Given the description of an element on the screen output the (x, y) to click on. 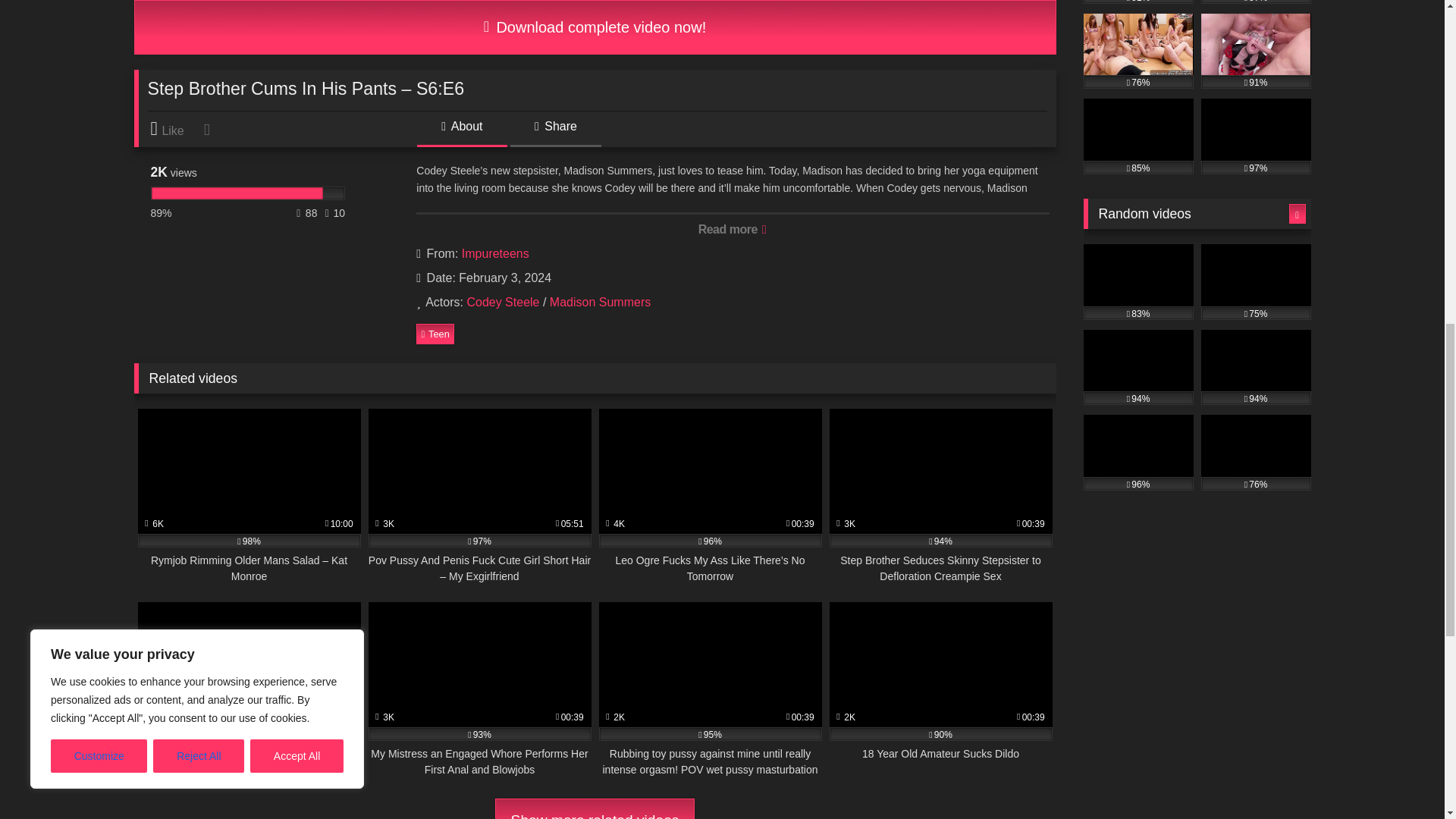
About (461, 132)
Download complete video now! (594, 27)
Impureteens (495, 253)
Read more (732, 228)
Share (556, 132)
Madison Summers (600, 301)
I like this (174, 129)
Codey Steele (501, 301)
Like (174, 129)
Posts by Impureteens (495, 253)
Teen (435, 333)
Teen (435, 333)
Madison Summers (600, 301)
